Given the description of an element on the screen output the (x, y) to click on. 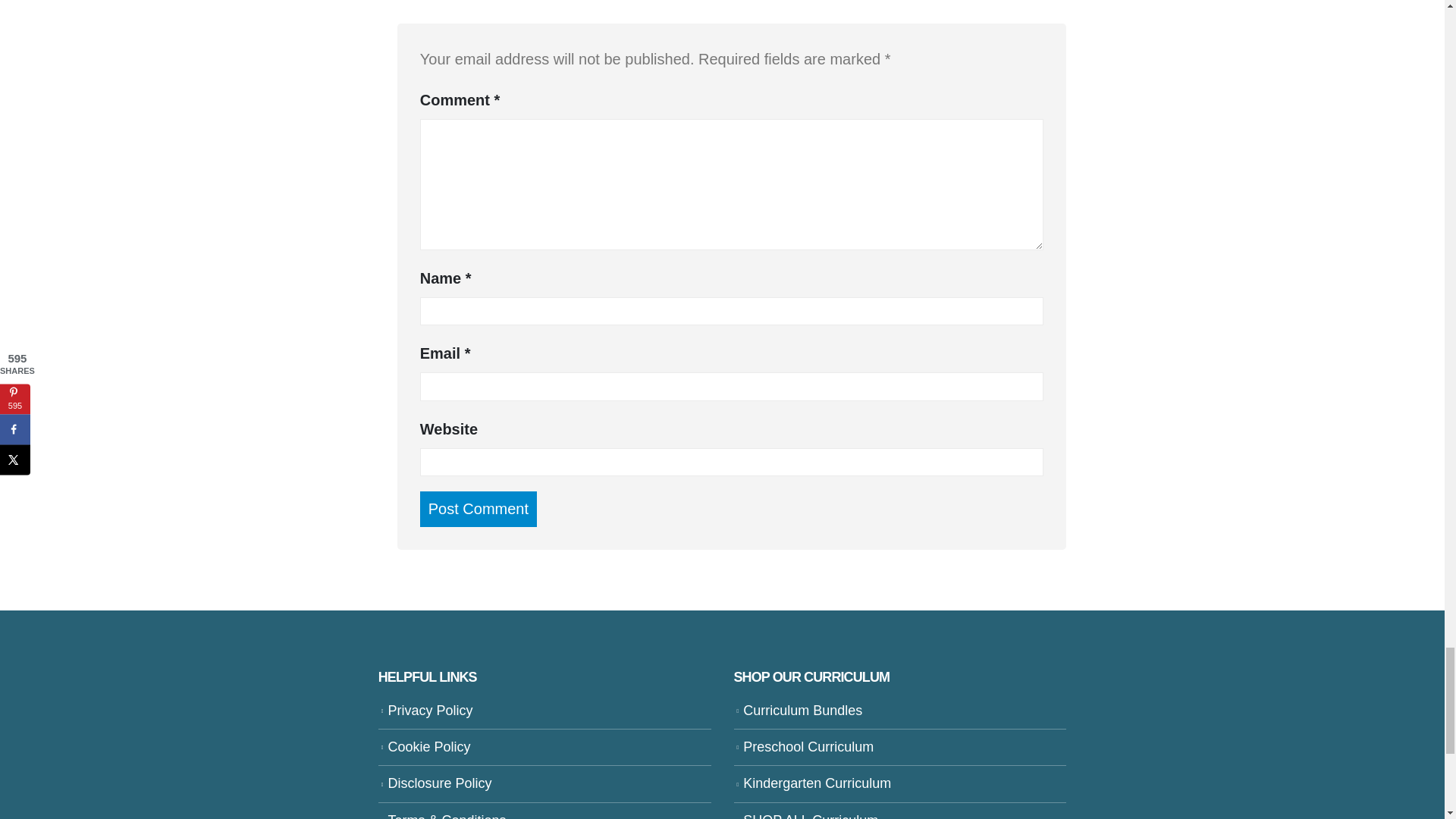
Post Comment (478, 509)
